Given the description of an element on the screen output the (x, y) to click on. 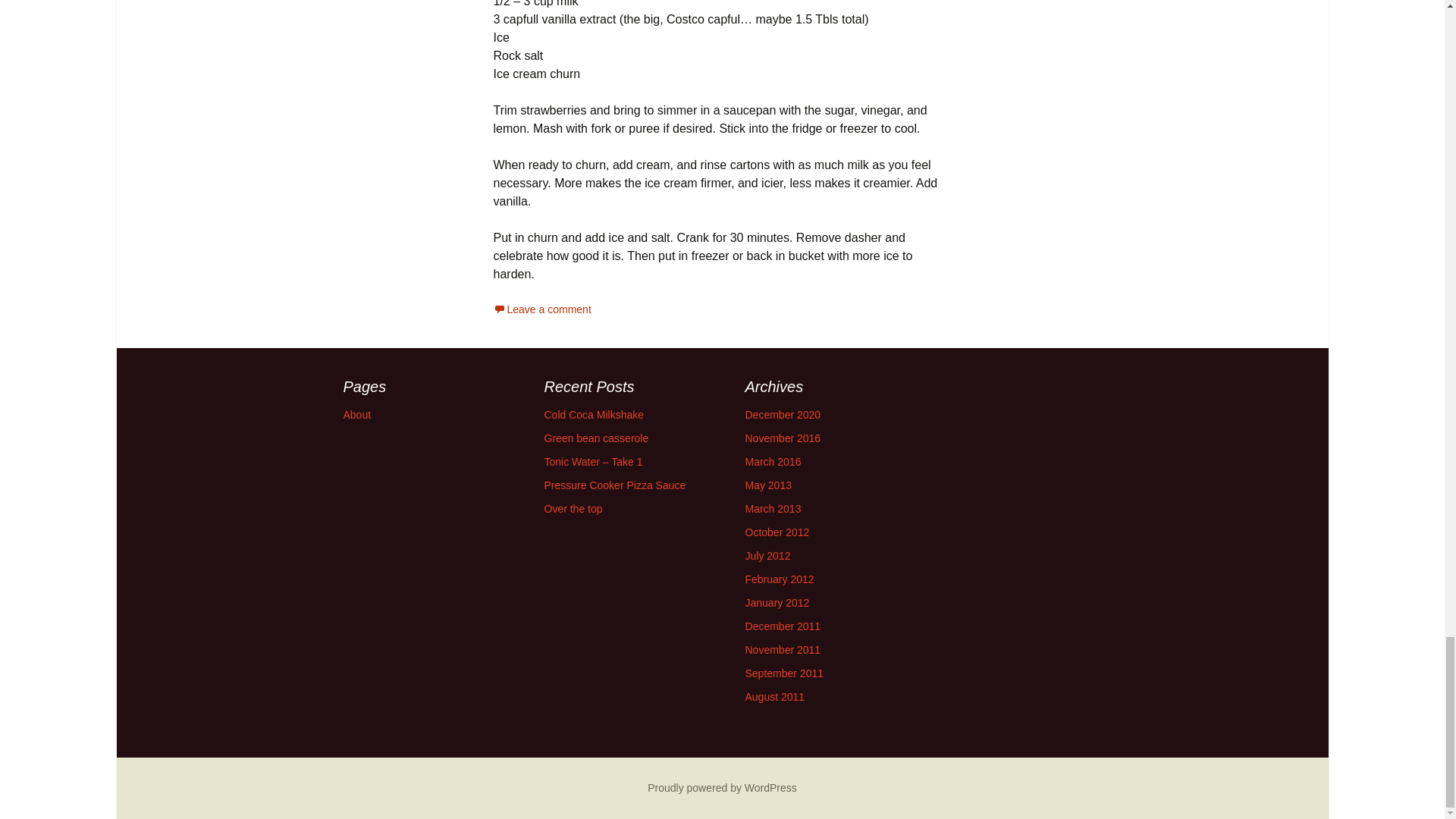
Leave a comment (542, 309)
March 2013 (772, 508)
November 2011 (782, 649)
July 2012 (767, 555)
Over the top (573, 508)
Proudly powered by WordPress (721, 787)
September 2011 (784, 673)
November 2016 (782, 438)
December 2020 (782, 414)
Pressure Cooker Pizza Sauce (614, 485)
